Given the description of an element on the screen output the (x, y) to click on. 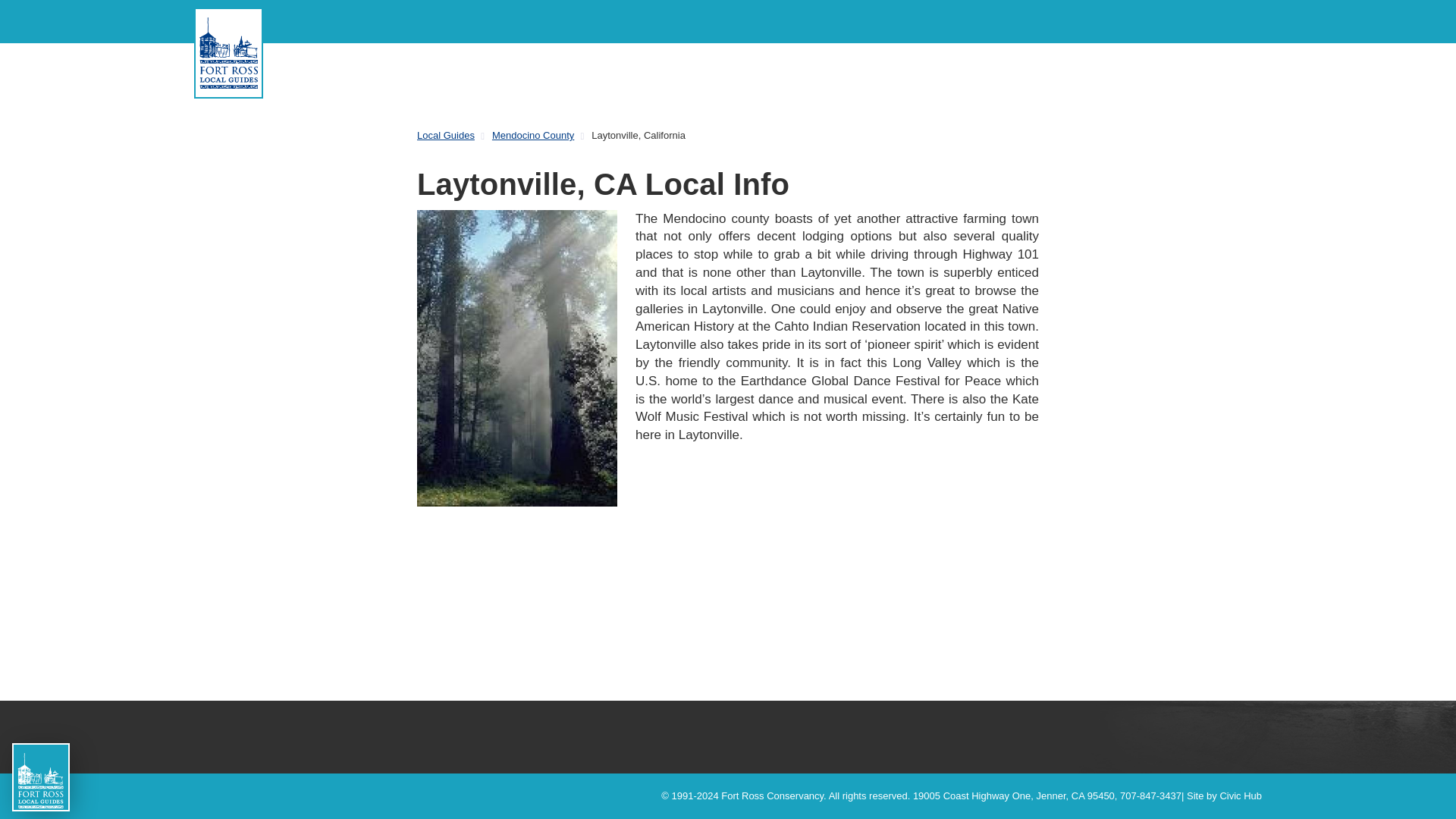
Local Guides (454, 135)
Civic Hub (1241, 795)
Mendocino County (532, 134)
